Given the description of an element on the screen output the (x, y) to click on. 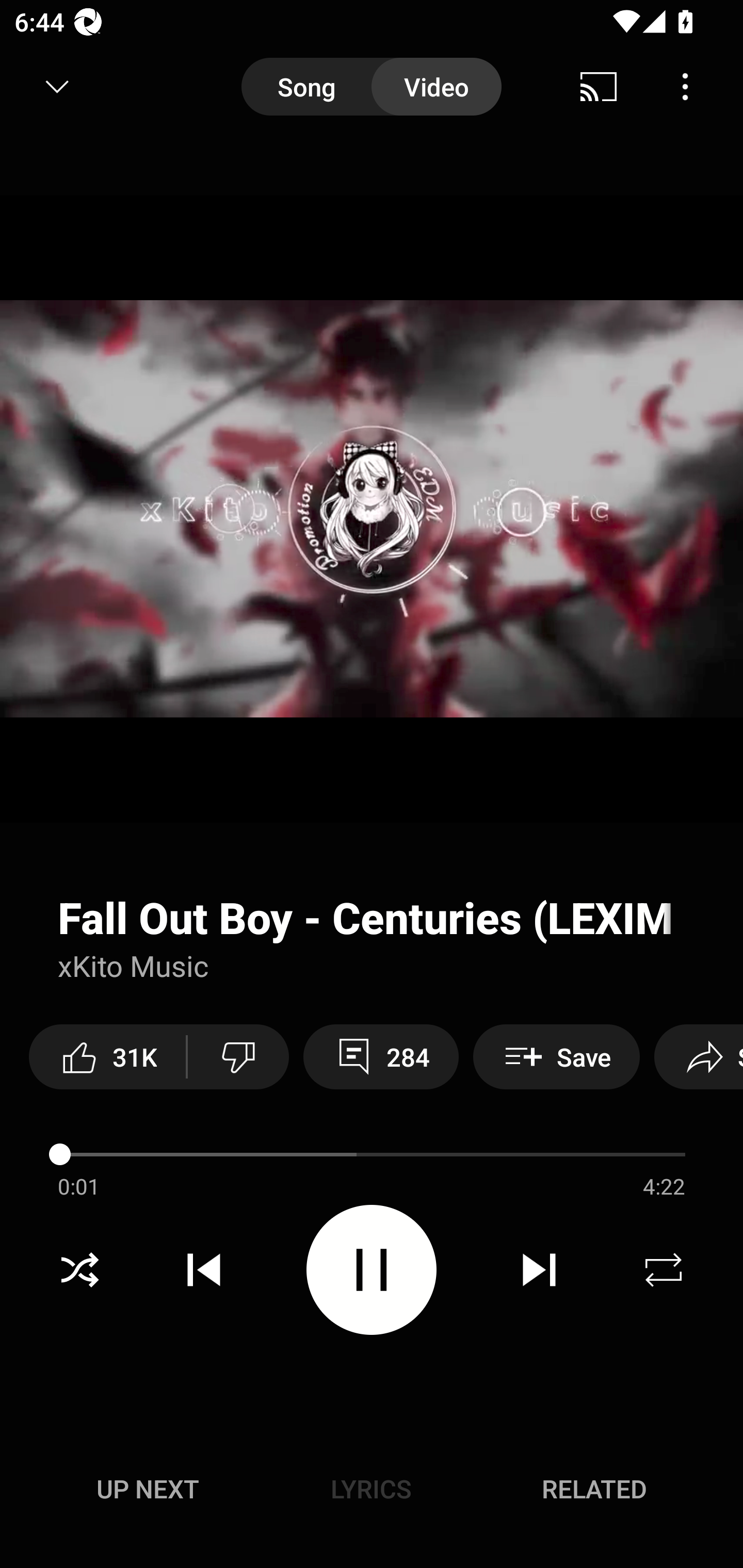
Minimize (57, 86)
Cast. Disconnected (598, 86)
Menu (684, 86)
31K like this video along with 31,928 other people (106, 1056)
Dislike (238, 1056)
284 View 284 comments (380, 1056)
Save Save to playlist (556, 1056)
Share (698, 1056)
Pause video (371, 1269)
Shuffle on (79, 1269)
Previous track (203, 1269)
Next track (538, 1269)
Repeat off (663, 1269)
Up next UP NEXT Lyrics LYRICS Related RELATED (371, 1491)
Lyrics LYRICS (370, 1488)
Related RELATED (594, 1488)
